Given the description of an element on the screen output the (x, y) to click on. 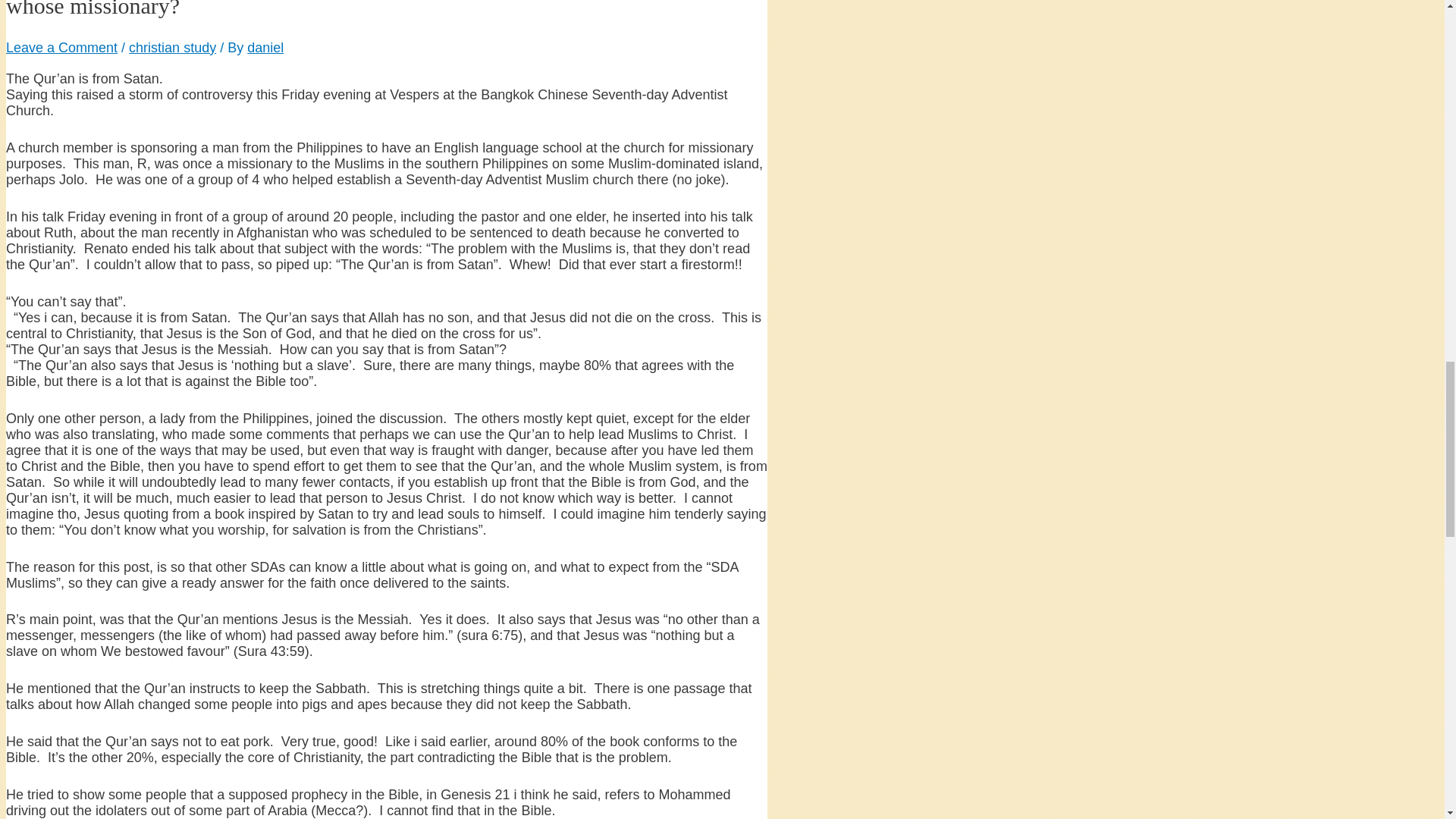
View all posts by daniel (265, 47)
